Given the description of an element on the screen output the (x, y) to click on. 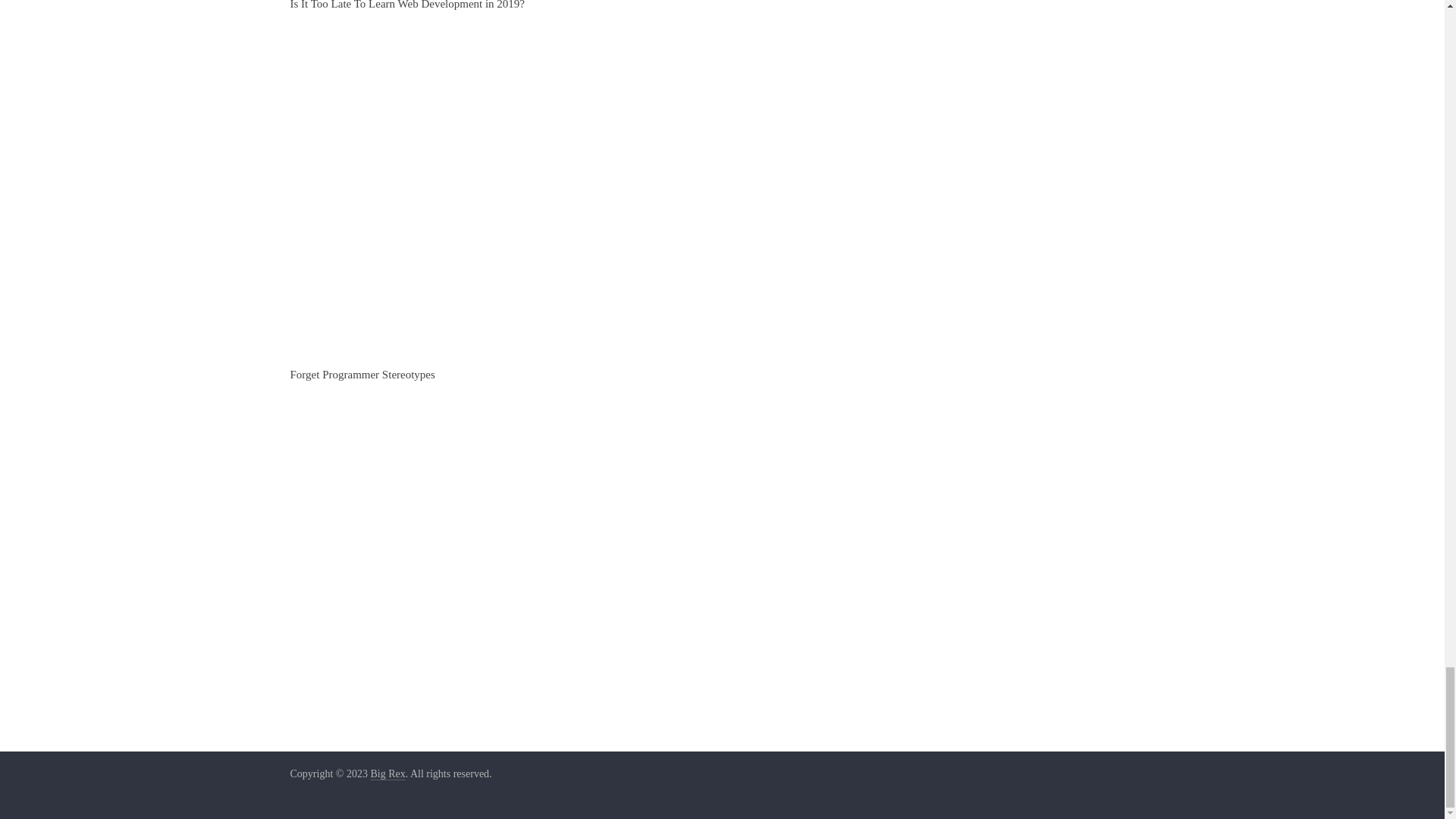
Big Rex (386, 774)
Big Rex (386, 774)
